Given the description of an element on the screen output the (x, y) to click on. 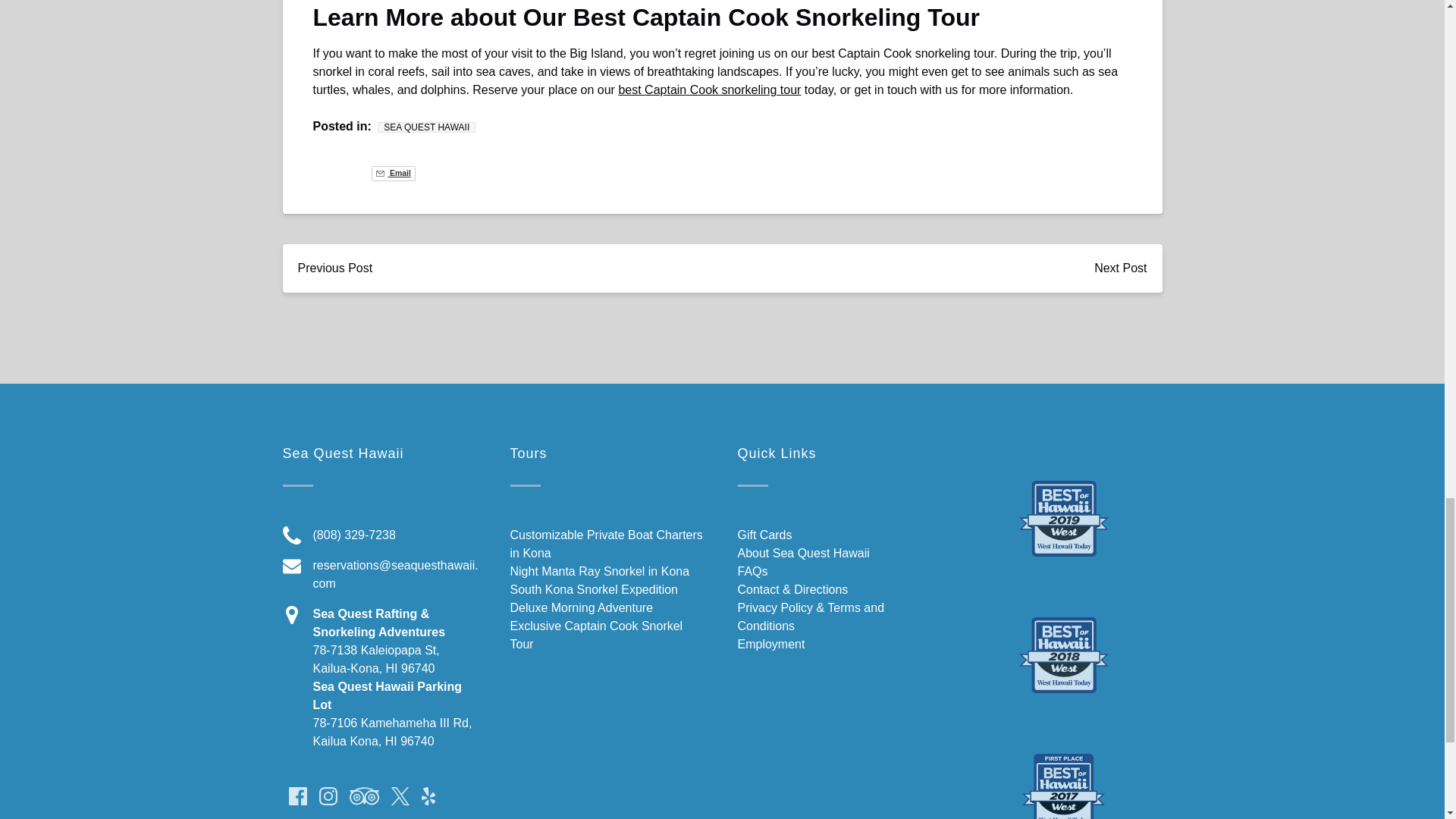
Next Post (1119, 268)
Email (392, 173)
Map Marker (290, 615)
best Captain Cook snorkeling tour (708, 89)
Phone (290, 535)
Previous Post (334, 268)
Envelope (290, 566)
SEA QUEST HAWAII (426, 127)
